Given the description of an element on the screen output the (x, y) to click on. 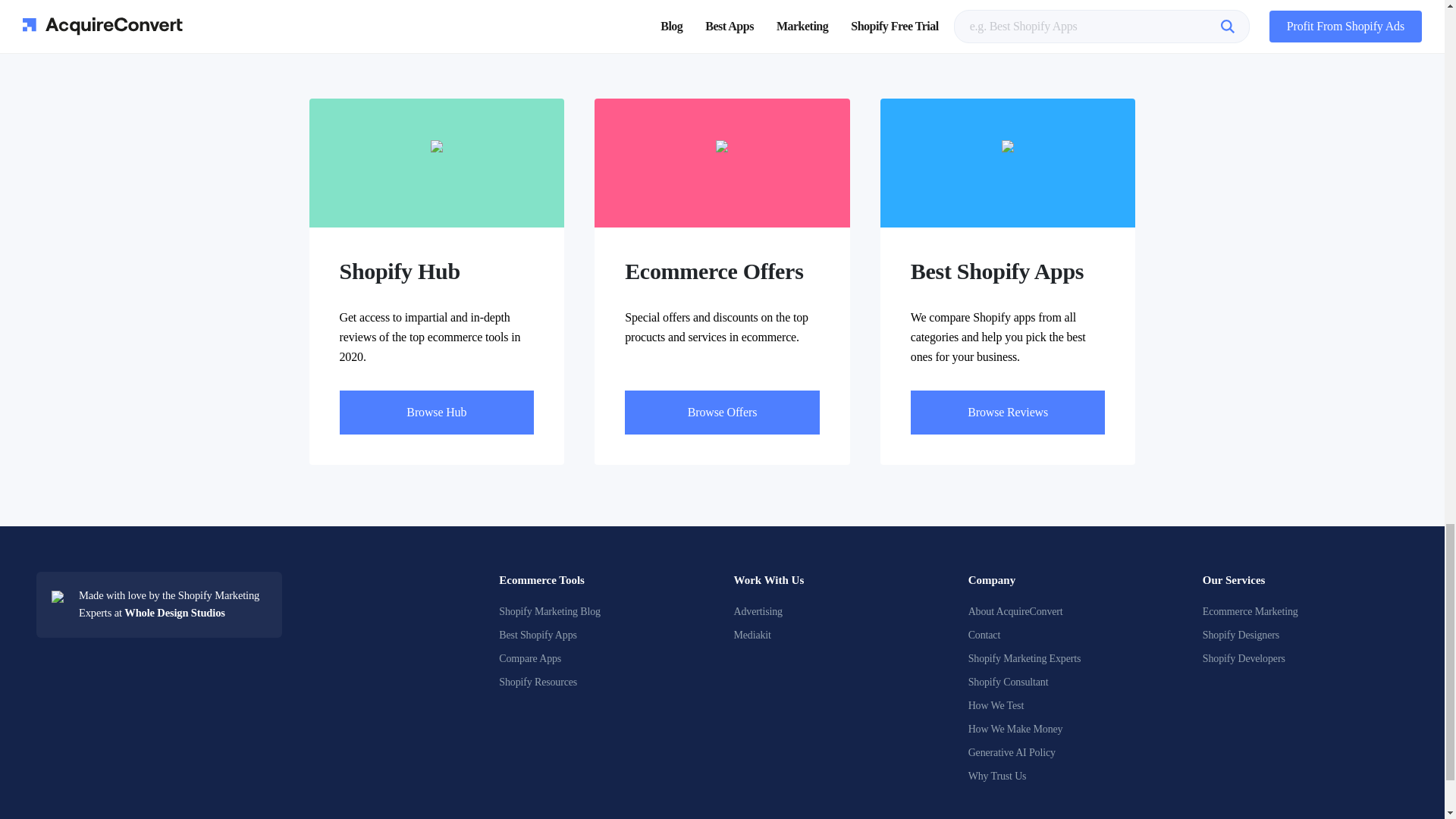
Browse Offers (721, 412)
Shopify Marketing Blog (549, 611)
Browse Reviews (1008, 412)
Mediakit (751, 634)
Best Shopify Apps (537, 634)
Advertising (757, 611)
Compare Apps (529, 658)
Browse Hub (436, 412)
About AcquireConvert (1015, 611)
Shopify Resources (537, 681)
